Given the description of an element on the screen output the (x, y) to click on. 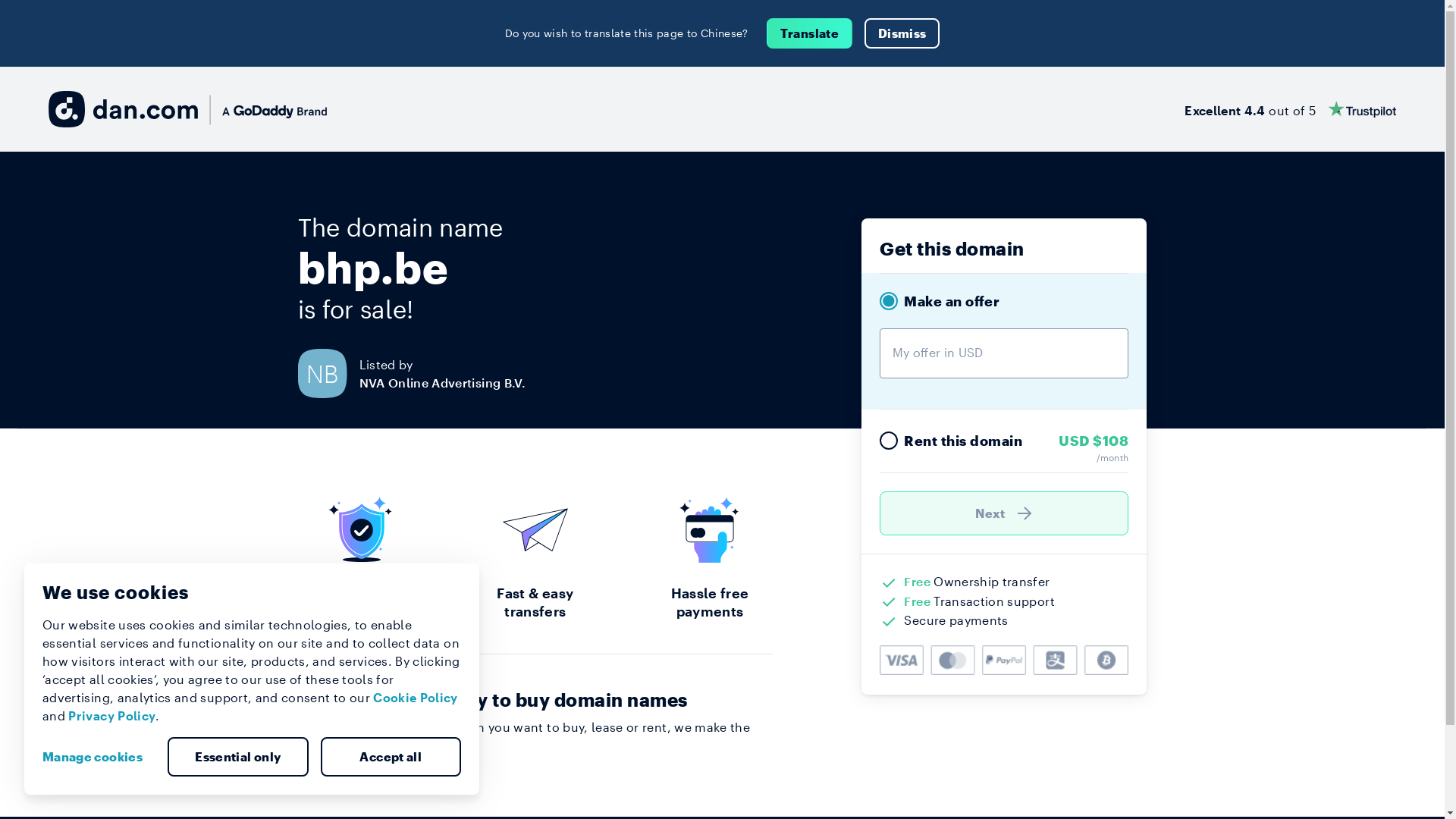
Next
) Element type: text (1003, 513)
Accept all Element type: text (390, 756)
Privacy Policy Element type: text (111, 715)
Cookie Policy Element type: text (415, 697)
Translate Element type: text (809, 33)
Manage cookies Element type: text (98, 756)
Excellent 4.4 out of 5 Element type: text (1290, 109)
Dismiss Element type: text (901, 33)
Essential only Element type: text (237, 756)
